Given the description of an element on the screen output the (x, y) to click on. 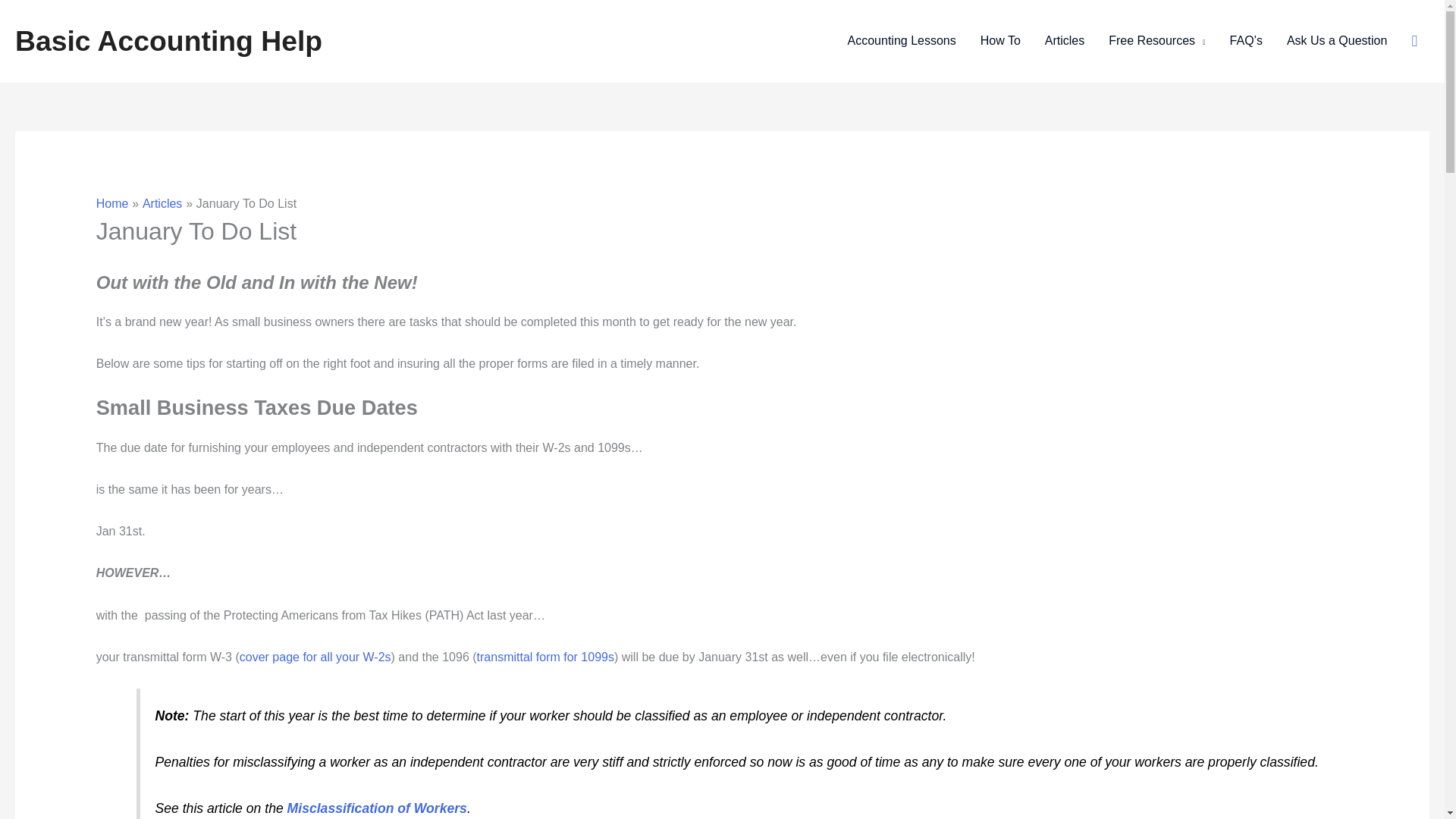
cover page for all your W-2s (315, 656)
Accounting Lessons (901, 40)
Free Resources (1156, 40)
Basic Accounting Help (167, 40)
Ask Us a Question (1337, 40)
transmittal form for 1099s (545, 656)
Home (112, 203)
Articles (1064, 40)
How To (1000, 40)
Misclassification of Workers (376, 807)
